Given the description of an element on the screen output the (x, y) to click on. 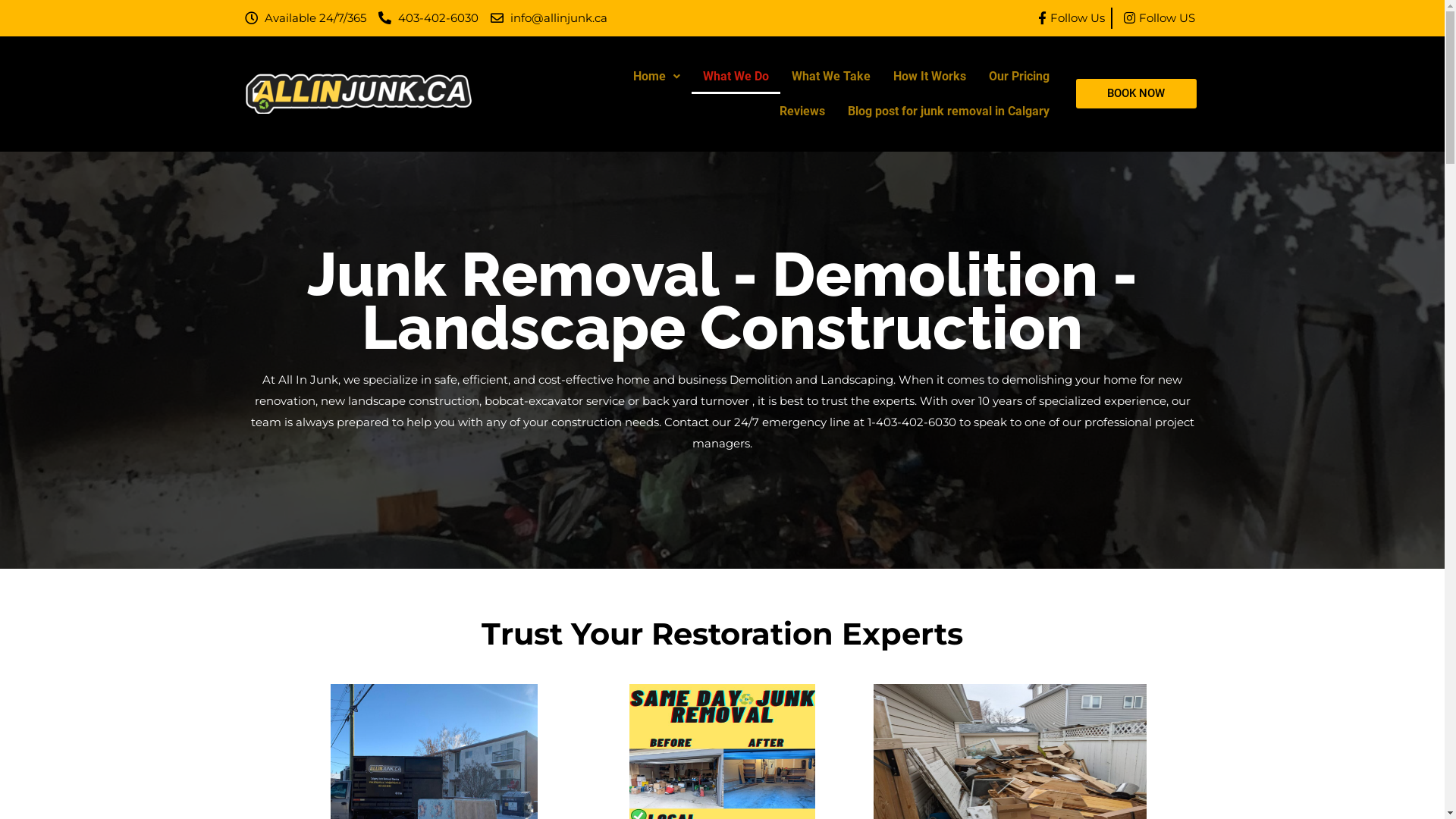
What We Do Element type: text (735, 76)
Blog post for junk removal in Calgary Element type: text (948, 111)
How It Works Element type: text (929, 76)
BOOK NOW Element type: text (1136, 93)
What We Take Element type: text (830, 76)
Our Pricing Element type: text (1018, 76)
info@allinjunk.ca Element type: text (548, 17)
Follow US Element type: text (1156, 17)
403-402-6030 Element type: text (428, 17)
Follow Us Element type: text (1067, 17)
Home Element type: text (656, 76)
Reviews Element type: text (802, 111)
